Given the description of an element on the screen output the (x, y) to click on. 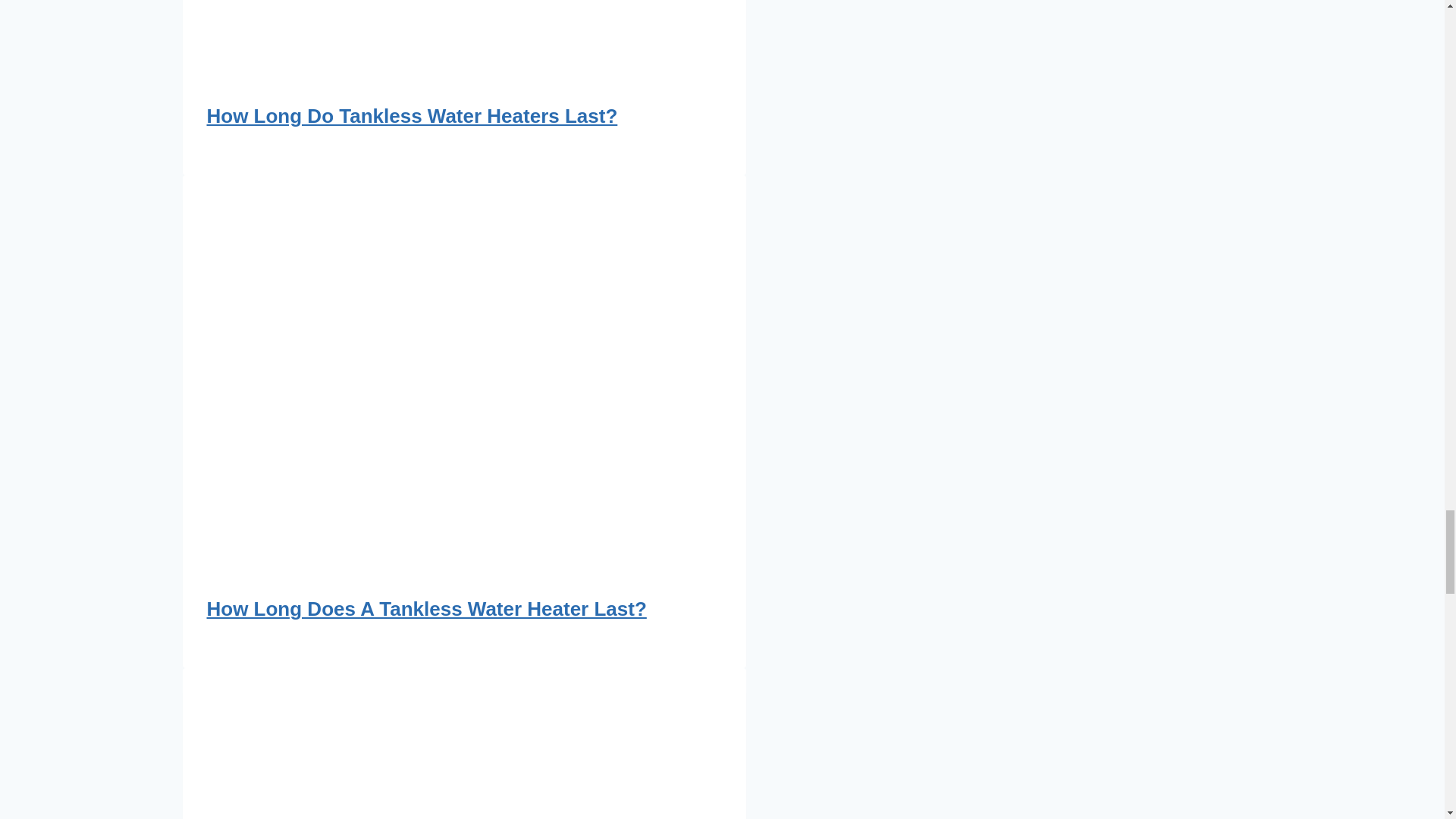
How Long Do Tankless Water Heaters Last? (411, 115)
How Long Does A Tankless Water Heater Last? (426, 608)
